Given the description of an element on the screen output the (x, y) to click on. 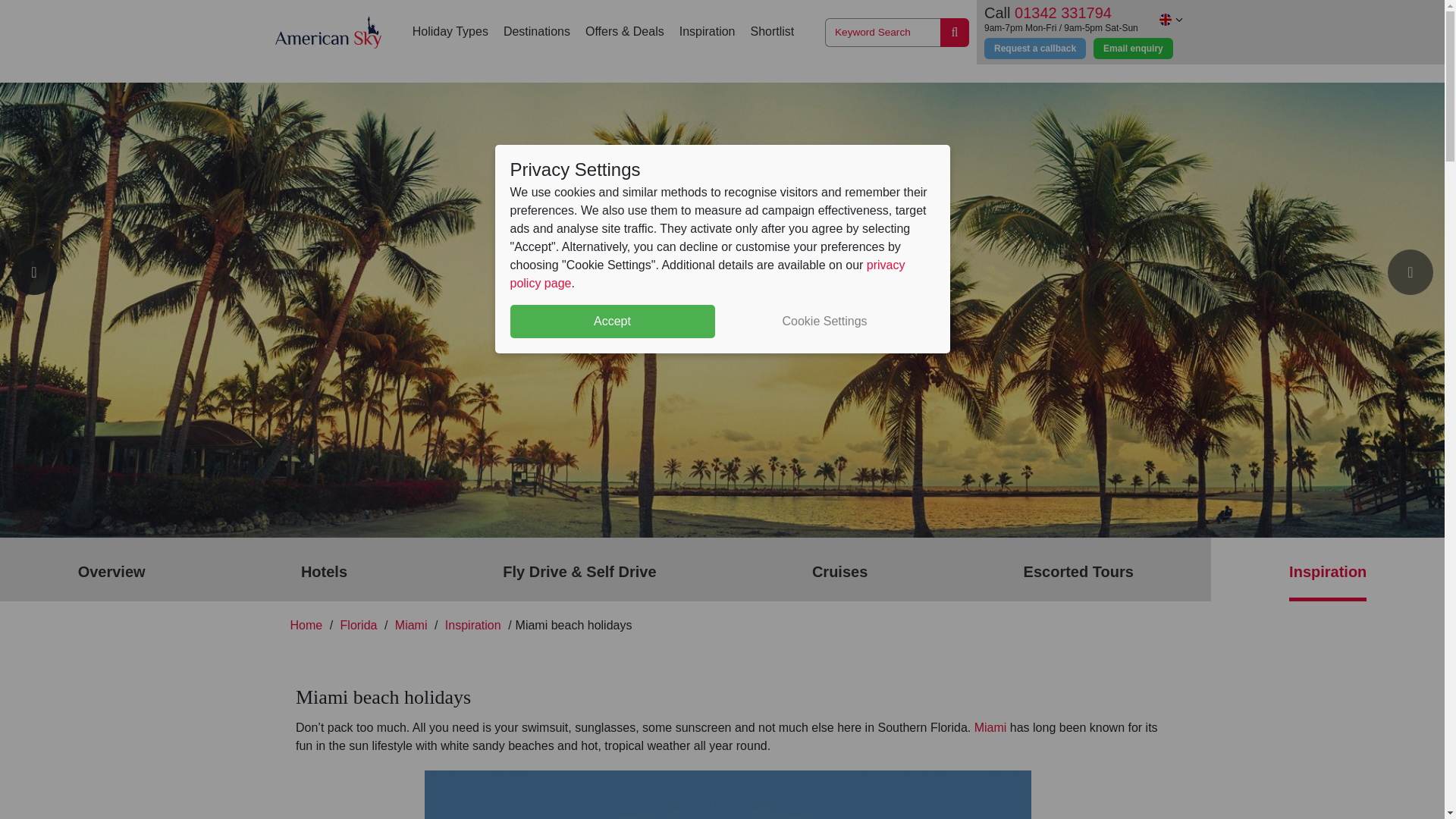
Holiday Types (450, 32)
Destinations (537, 32)
American Sky (328, 31)
